Given the description of an element on the screen output the (x, y) to click on. 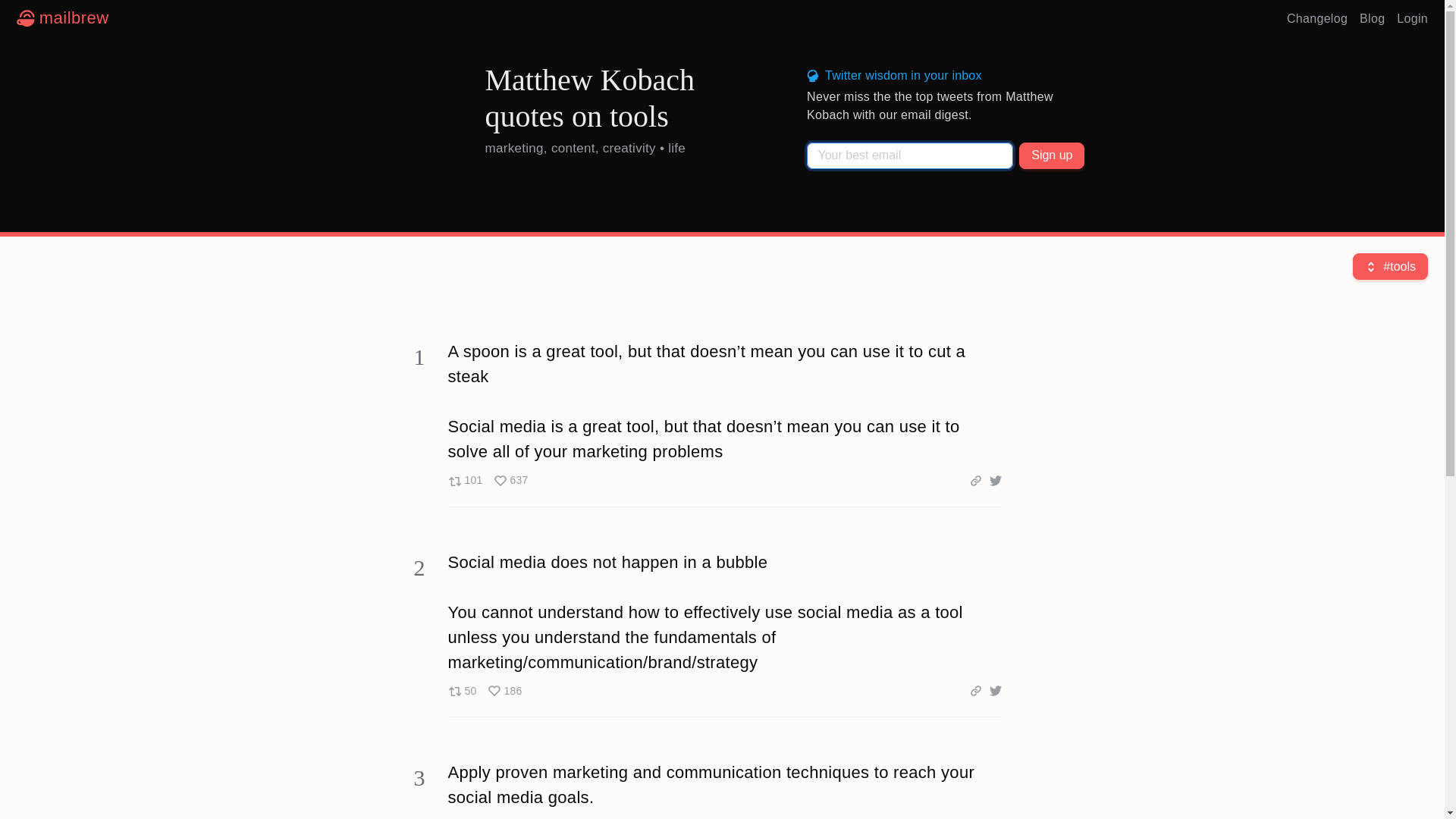
Sign up (1051, 155)
Login (1412, 18)
mailbrew (62, 18)
Changelog (486, 480)
Blog (1317, 18)
